Given the description of an element on the screen output the (x, y) to click on. 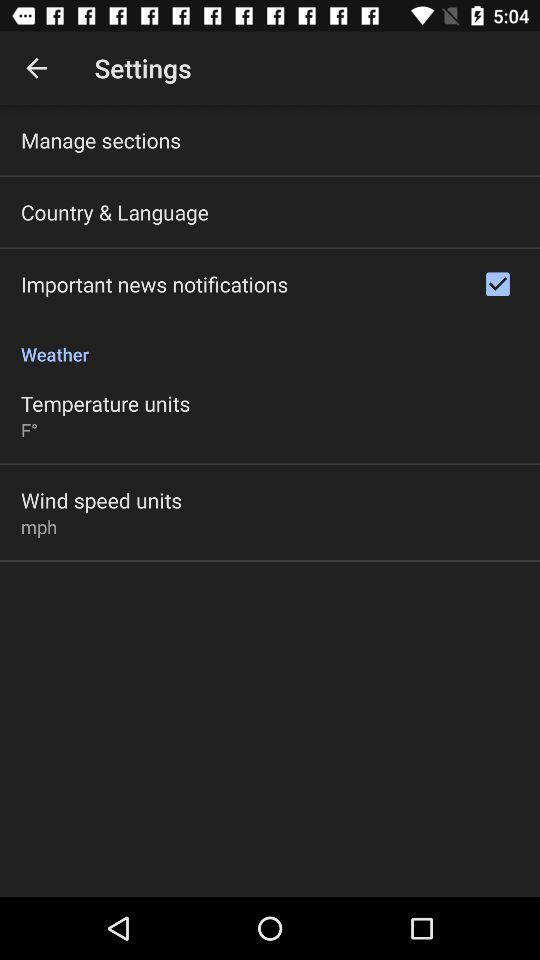
launch item at the top right corner (497, 284)
